Given the description of an element on the screen output the (x, y) to click on. 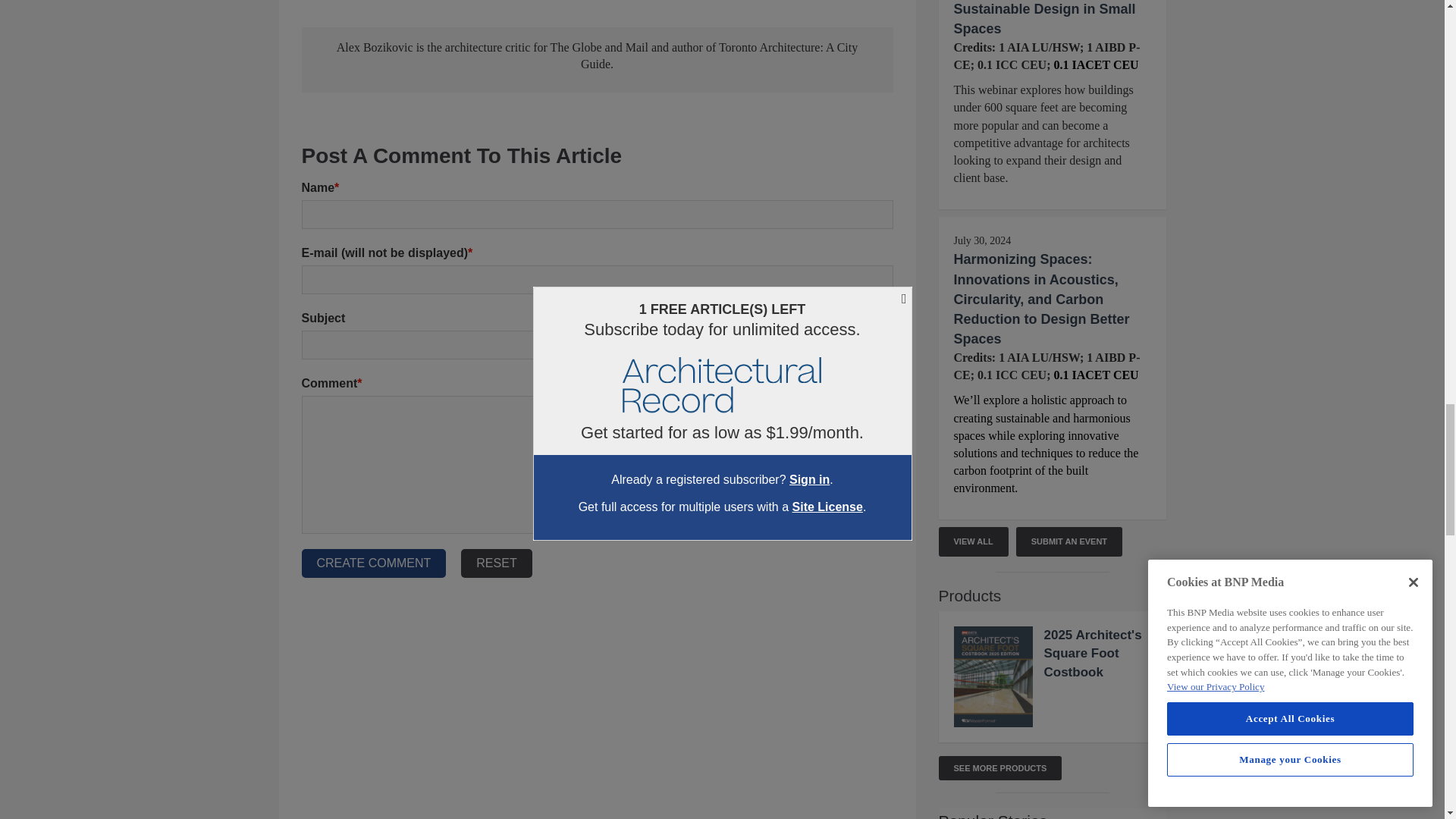
Create Comment (373, 563)
Sustainable Design in Small Spaces (1044, 18)
Reset (496, 563)
